Given the description of an element on the screen output the (x, y) to click on. 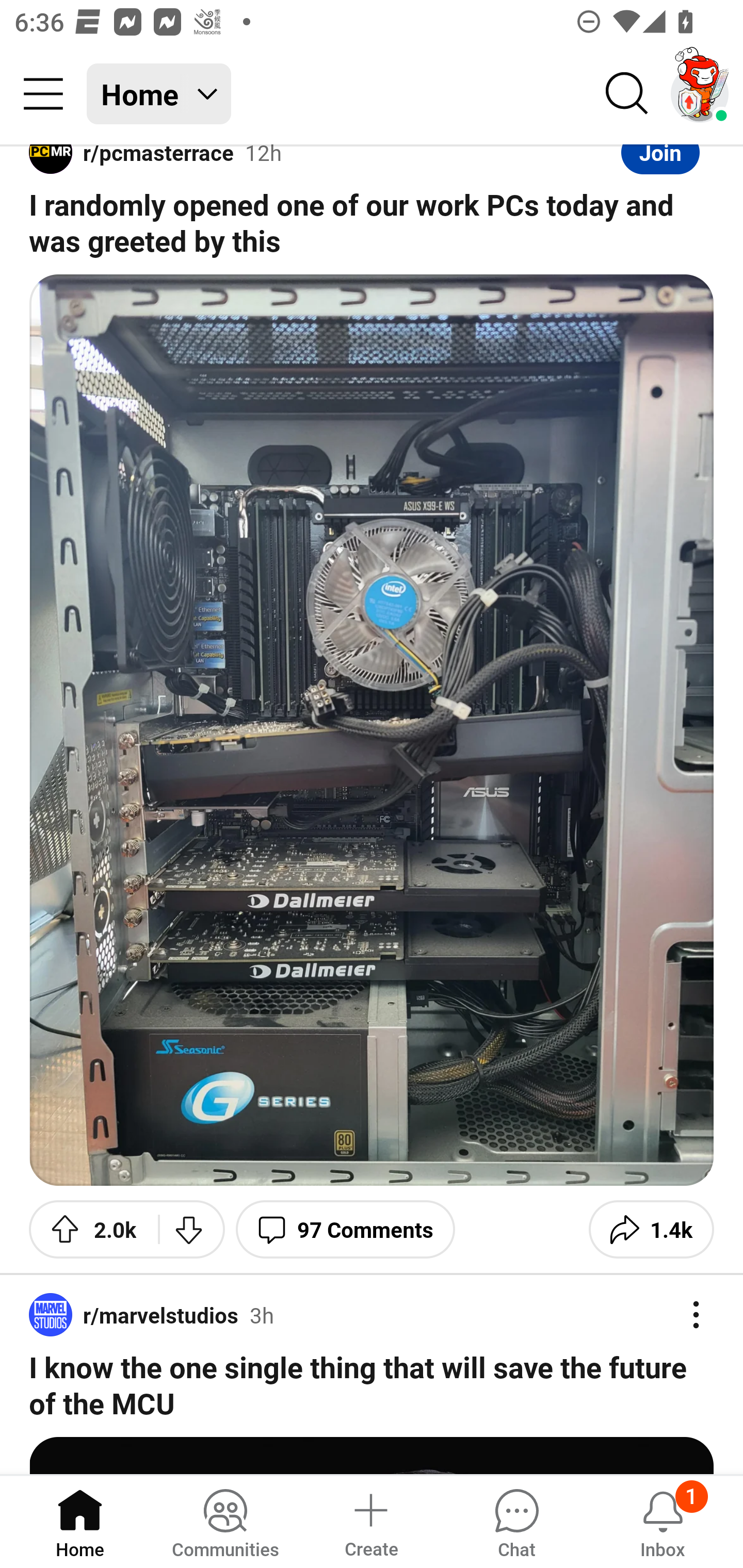
Community menu (43, 93)
Home Home feed (158, 93)
Search (626, 93)
TestAppium002 account (699, 93)
Home (80, 1520)
Communities (225, 1520)
Create a post Create (370, 1520)
Chat (516, 1520)
Inbox, has 1 notification 1 Inbox (662, 1520)
